Given the description of an element on the screen output the (x, y) to click on. 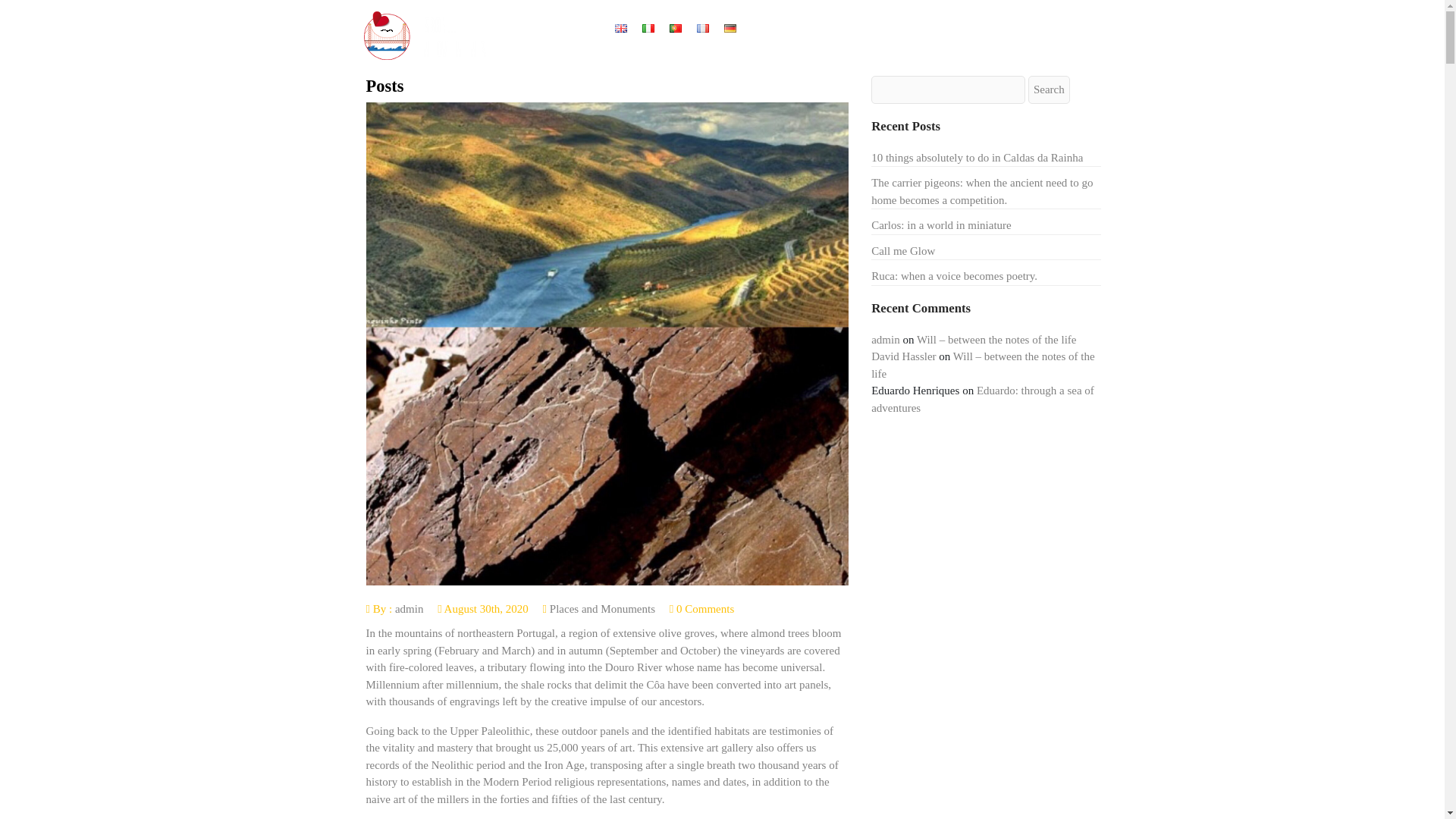
Gallery (1020, 28)
admin (408, 608)
Tailor-made trip (951, 28)
About Me (817, 28)
Deutsch (729, 28)
Home (765, 28)
Search (1048, 90)
Italiano (647, 28)
English (620, 28)
Blog (1063, 28)
Our tours (877, 28)
Search (1048, 90)
Places and Monuments (602, 608)
Contact (632, 62)
Posts by admin (408, 608)
